Given the description of an element on the screen output the (x, y) to click on. 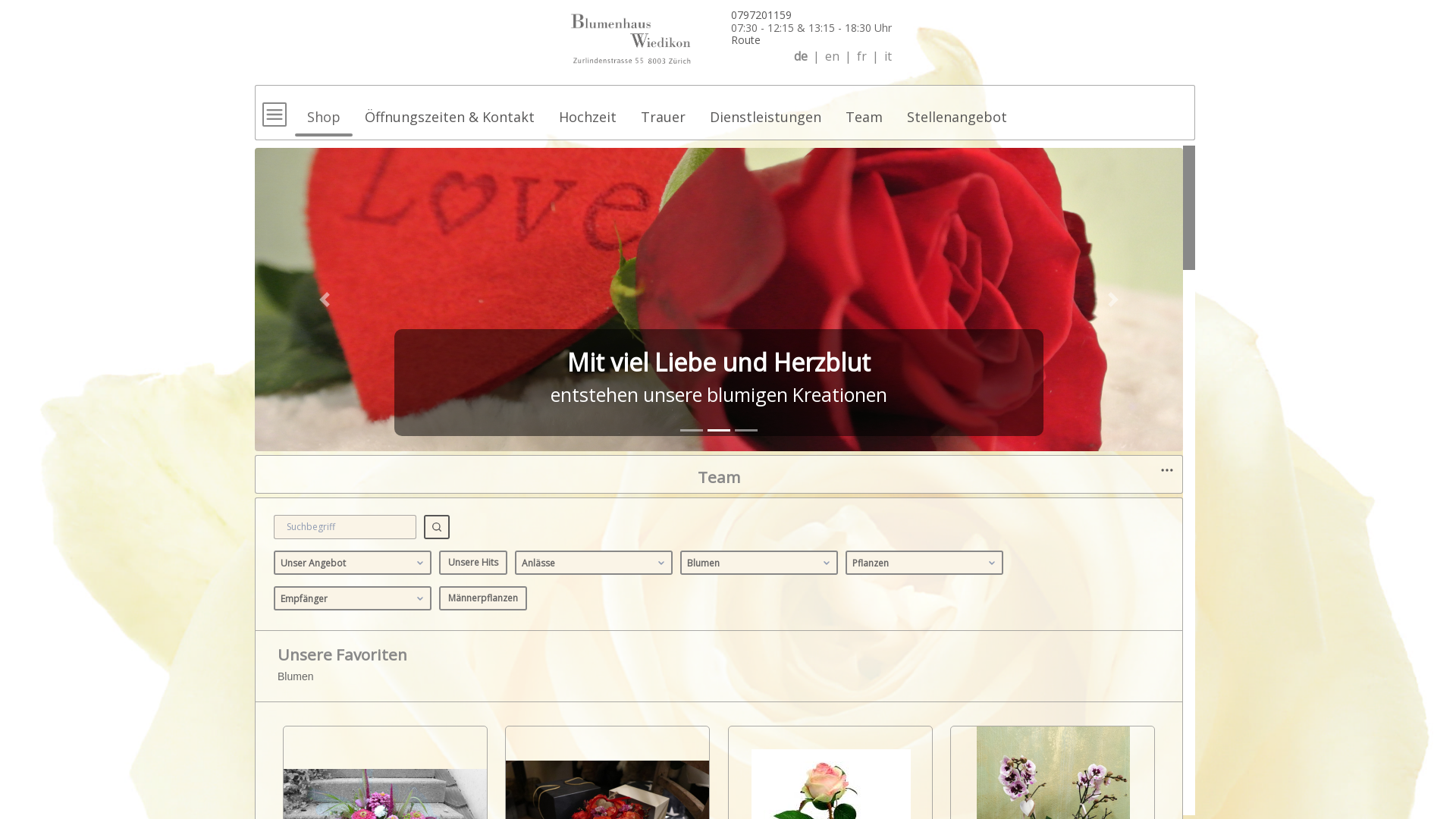
Shop Element type: text (323, 109)
Route Element type: text (745, 39)
Team Element type: text (863, 109)
Previous Element type: text (324, 299)
Trauer Element type: text (662, 109)
Dienstleistungen Element type: text (765, 109)
0797201159 Element type: text (761, 14)
Unsere Hits Element type: text (473, 562)
Blumen Element type: text (758, 562)
Hochzeit Element type: text (587, 109)
Next Element type: text (1113, 299)
Stellenangebot Element type: text (956, 109)
Unser Angebot Element type: text (352, 562)
Pflanzen Element type: text (924, 562)
